Given the description of an element on the screen output the (x, y) to click on. 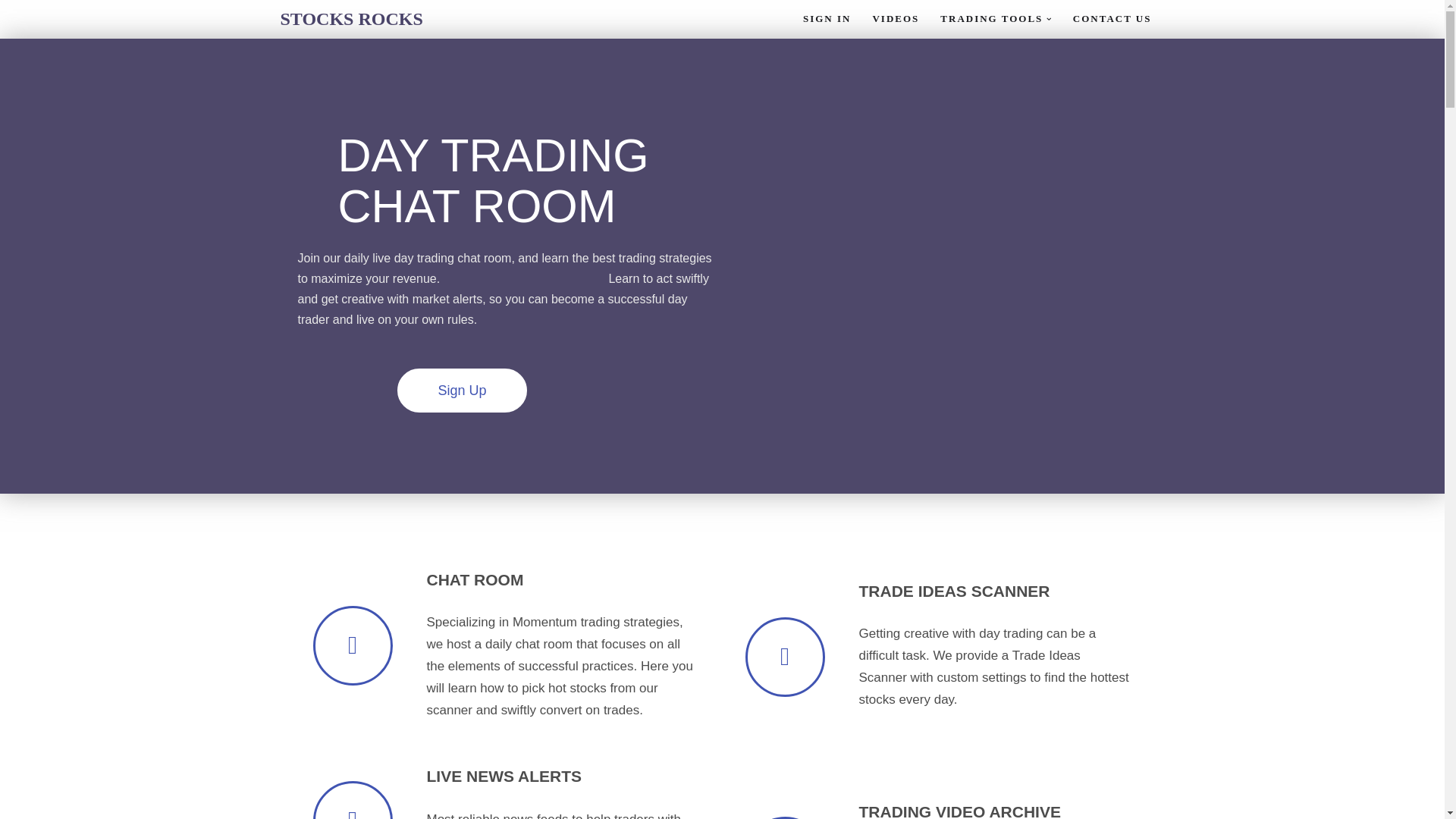
CONTACT US (1112, 18)
STOCKS ROCKS (352, 19)
SIGN IN (827, 18)
Sign Up (462, 390)
Skip to content (11, 31)
VIDEOS (895, 18)
TRADING TOOLS (991, 18)
